Given the description of an element on the screen output the (x, y) to click on. 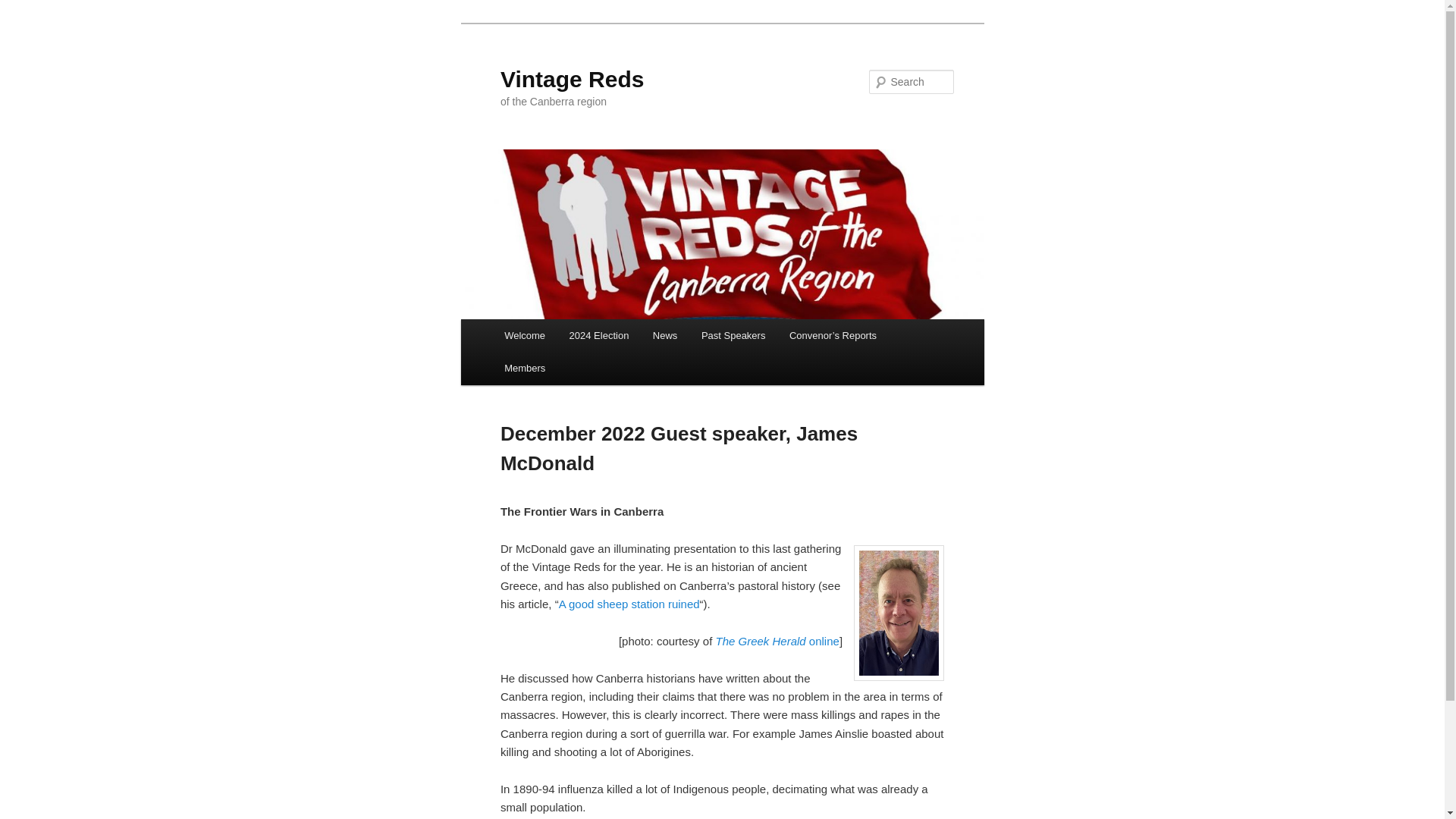
Welcome (524, 335)
Members (524, 368)
Search (24, 8)
Vintage Reds (572, 78)
2024 Election (598, 335)
December 2022 Guest speaker, James McDonald (678, 448)
Past Speakers (732, 335)
A good sheep station ruined (629, 603)
The Greek Herald online (776, 640)
News (664, 335)
